Given the description of an element on the screen output the (x, y) to click on. 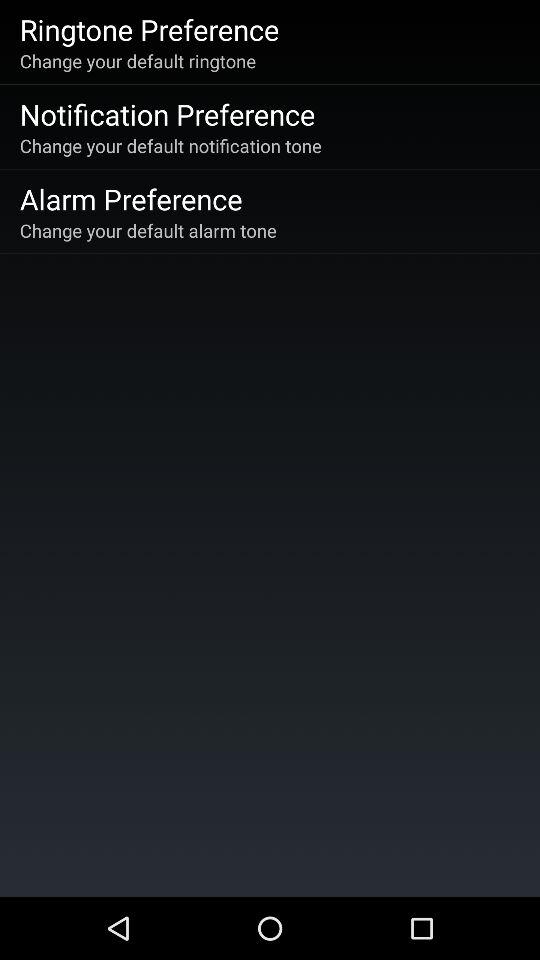
tap item above change your default (130, 198)
